Given the description of an element on the screen output the (x, y) to click on. 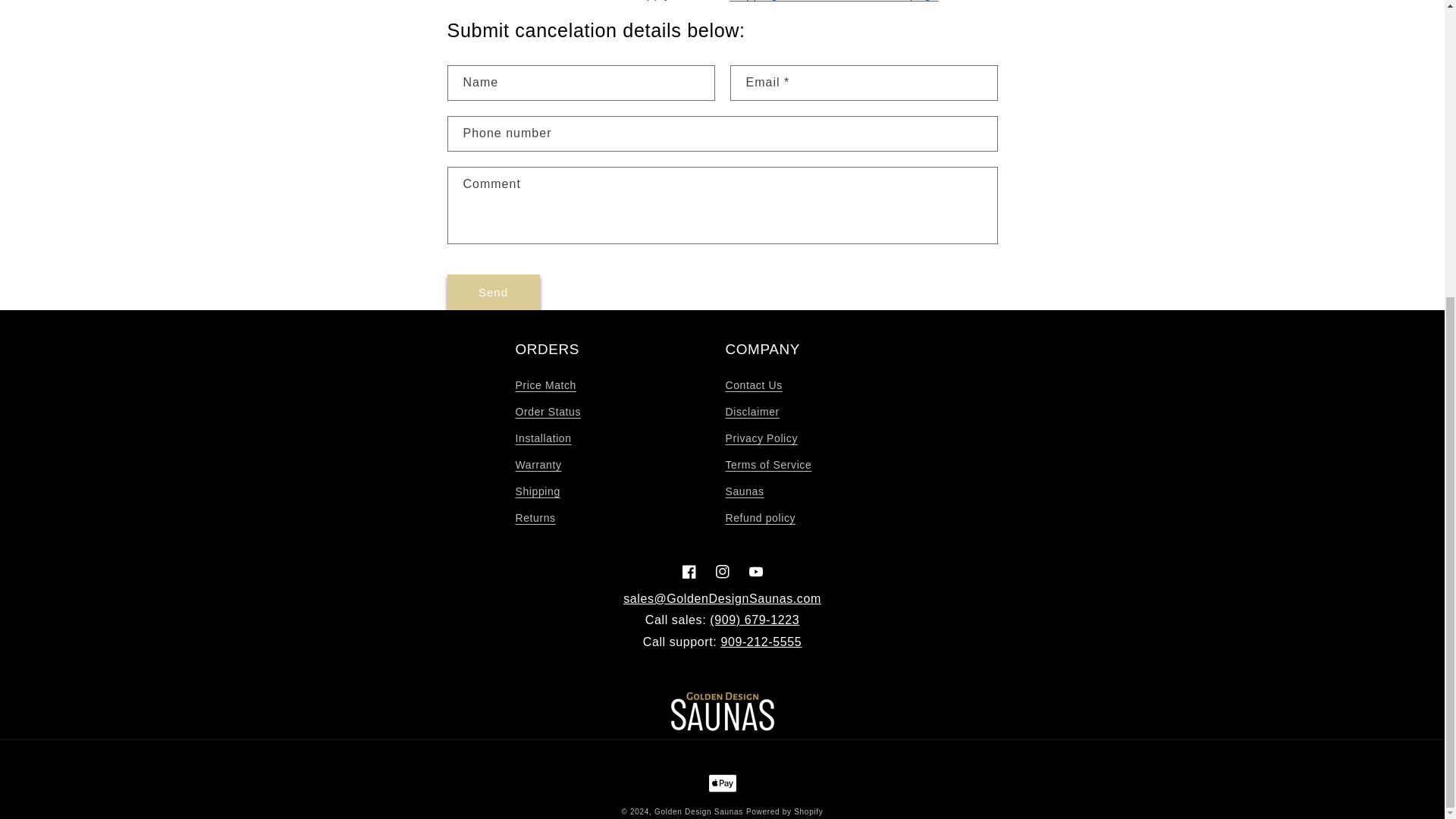
Contact us (722, 598)
Price Match (545, 386)
Order Status (547, 411)
Refund policy (759, 518)
Returns (535, 518)
909-212-5555 (761, 641)
Powered by Shopify (784, 811)
Terms of Service (767, 465)
Disclaimer (751, 411)
Dial 909-212-5555 (761, 641)
Send (493, 292)
Shipping (537, 491)
Warranty (538, 465)
Facebook (687, 571)
Saunas (743, 491)
